Given the description of an element on the screen output the (x, y) to click on. 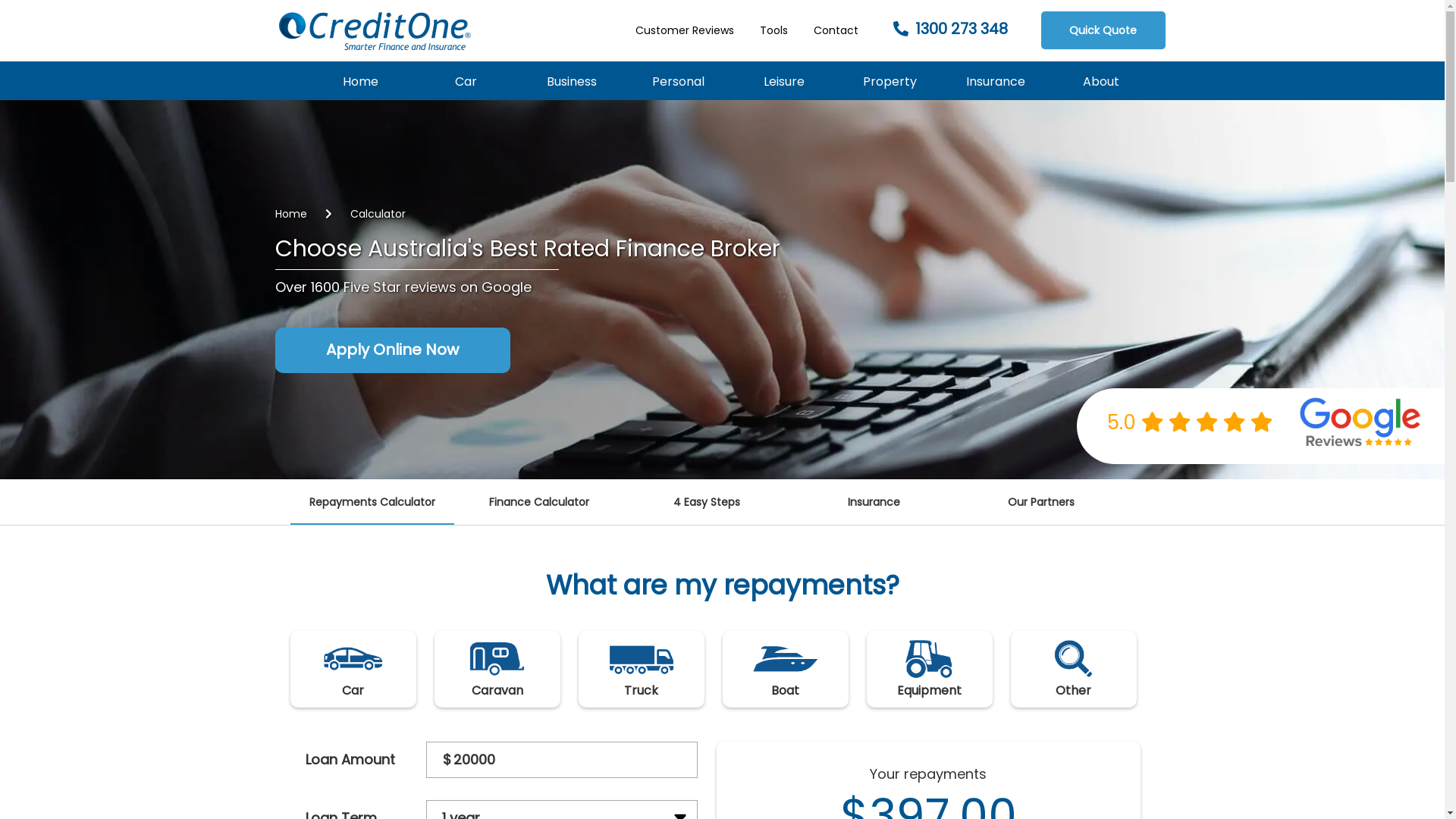
4 Easy Steps Element type: text (706, 501)
Apply Online Now Element type: text (392, 350)
Home Element type: text (360, 80)
Insurance Element type: text (873, 501)
Contact Element type: text (835, 29)
Quick Quote Element type: text (1103, 30)
Home Element type: text (291, 213)
Customer Reviews Element type: text (684, 29)
Our Partners Element type: text (1041, 501)
Finance Calculator Element type: text (539, 501)
Apply Online Now Element type: text (392, 350)
Property Element type: text (889, 80)
1300 273 348 Element type: text (950, 29)
Repayments Calculator Element type: text (371, 501)
Quick Quote Element type: text (1097, 29)
